Given the description of an element on the screen output the (x, y) to click on. 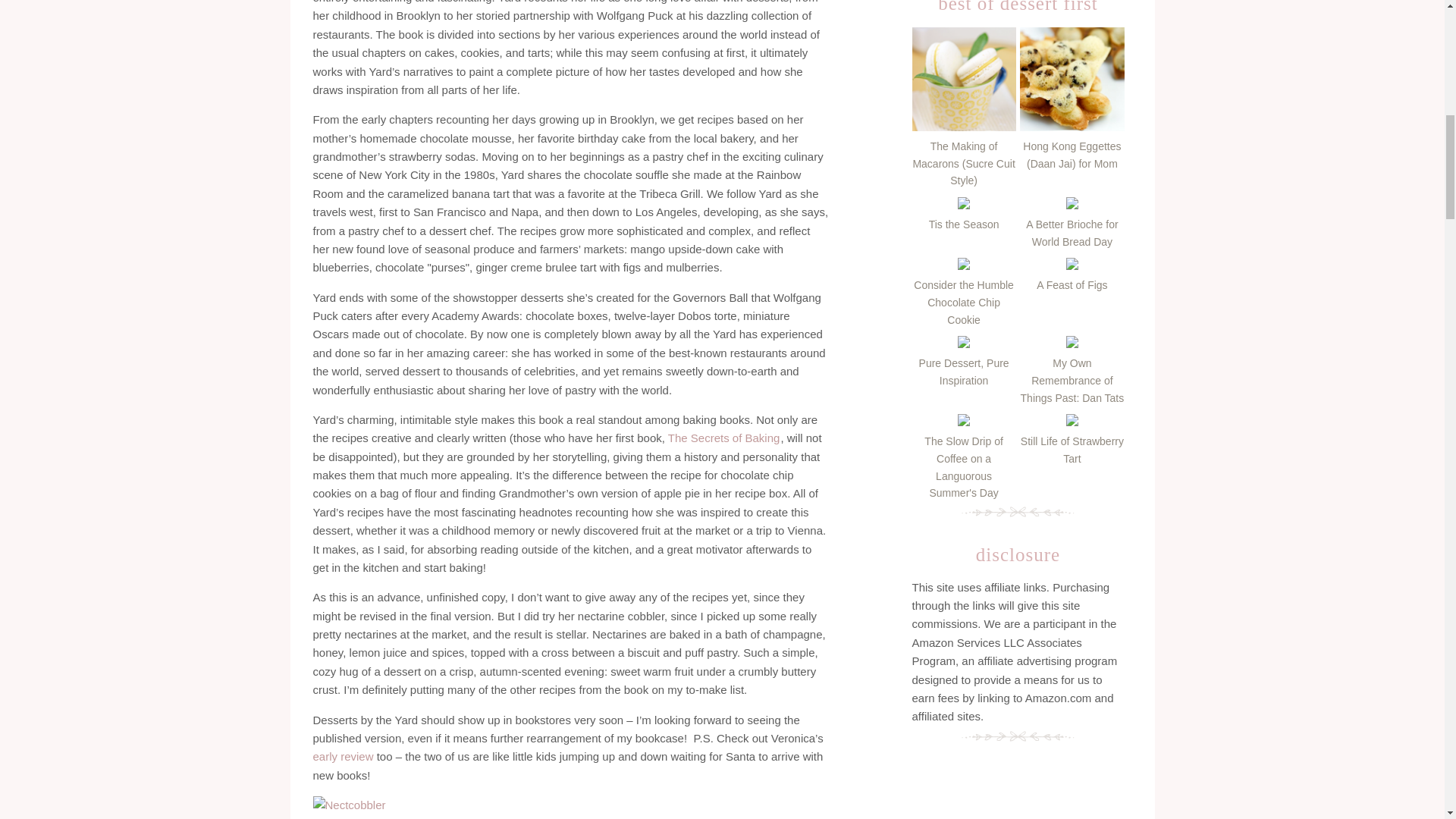
Nectcobbler (349, 805)
